Given the description of an element on the screen output the (x, y) to click on. 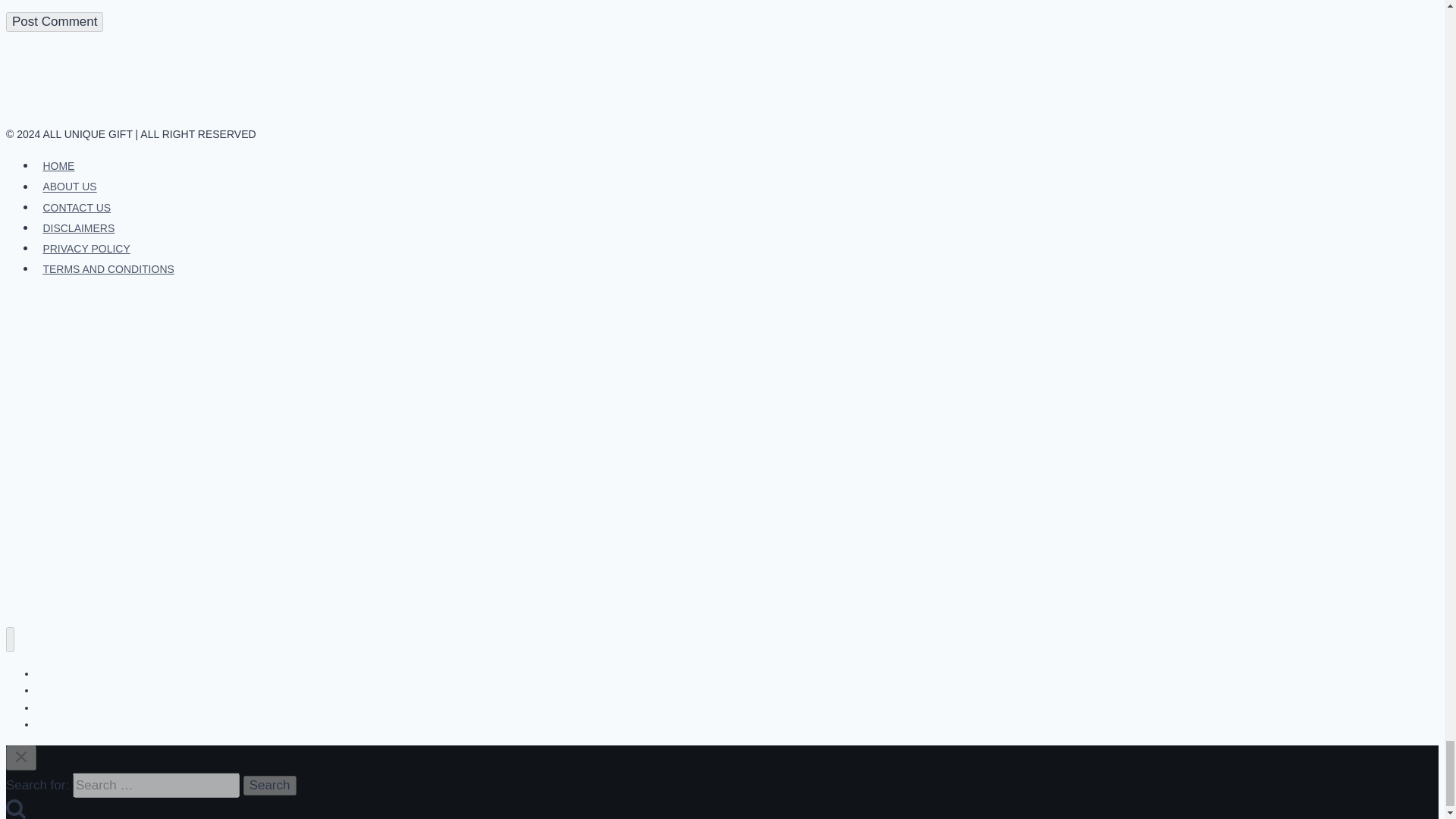
Search (270, 785)
Post Comment (54, 21)
Toggle Menu Close (20, 756)
Search (270, 785)
